Given the description of an element on the screen output the (x, y) to click on. 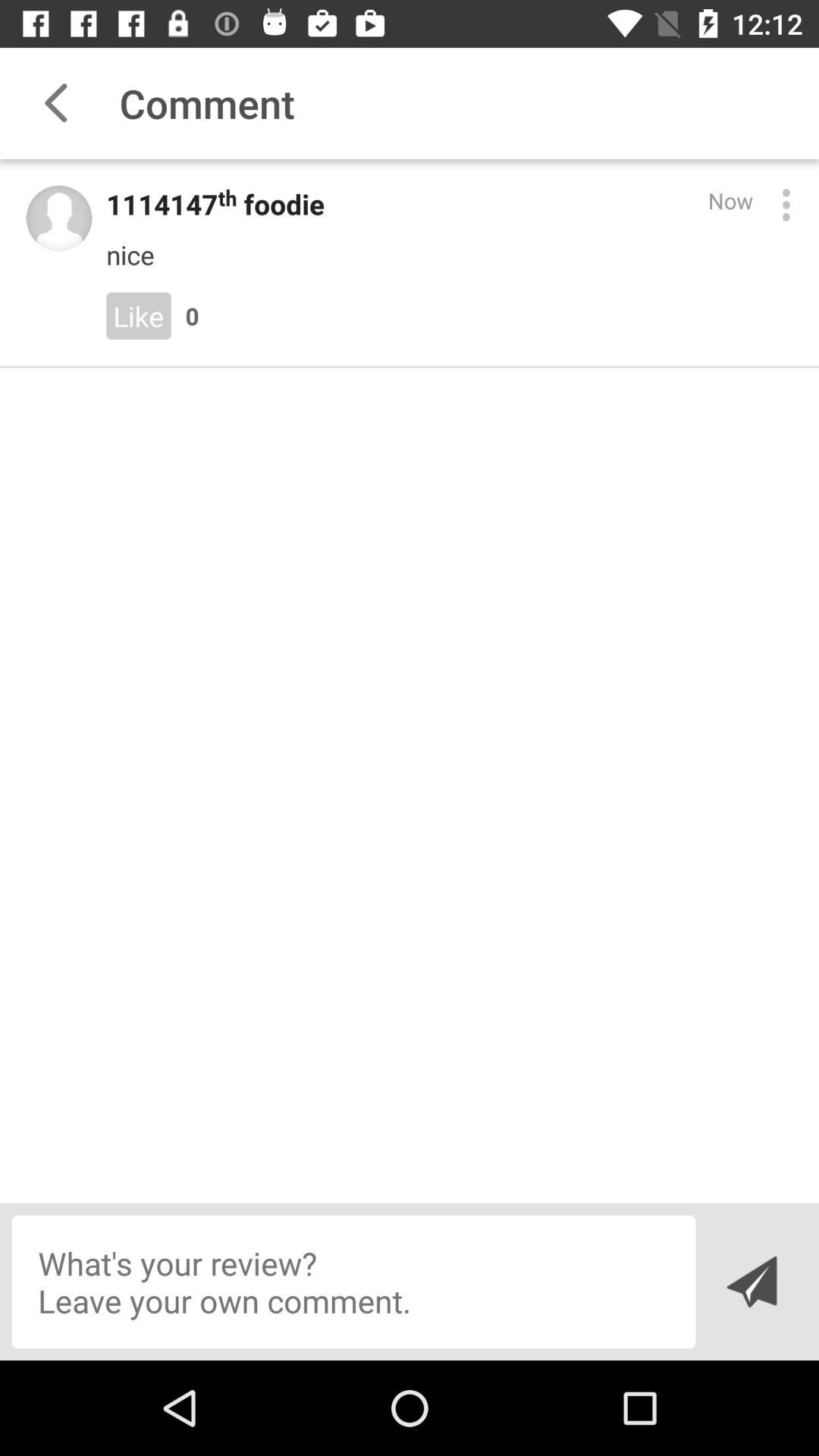
open menu (786, 204)
